Given the description of an element on the screen output the (x, y) to click on. 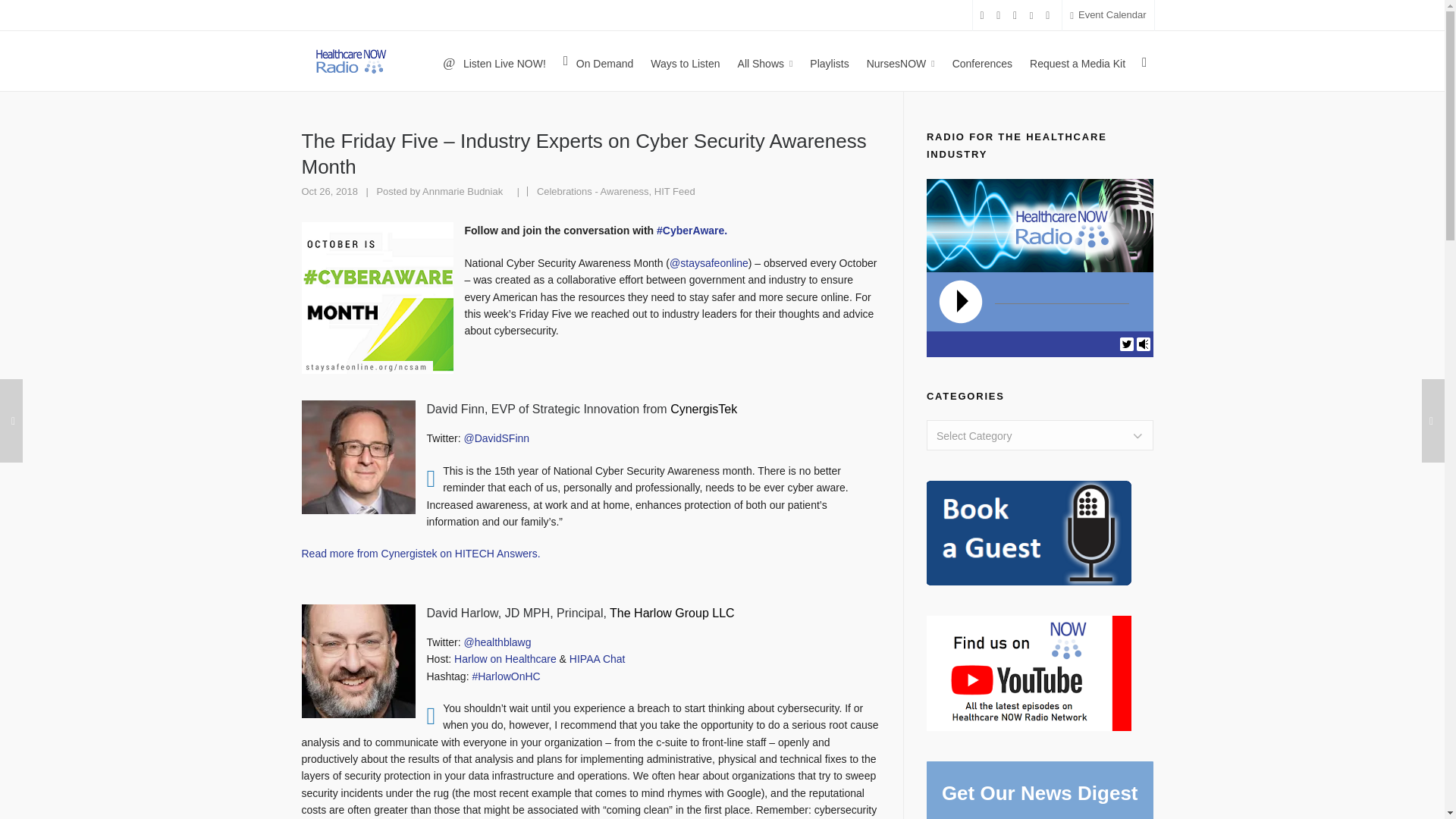
Twitter (1126, 343)
View all posts in HIT Feed (674, 191)
View all posts in Celebrations - Awareness (593, 191)
Posts by Annmarie Budniak (462, 191)
